Given the description of an element on the screen output the (x, y) to click on. 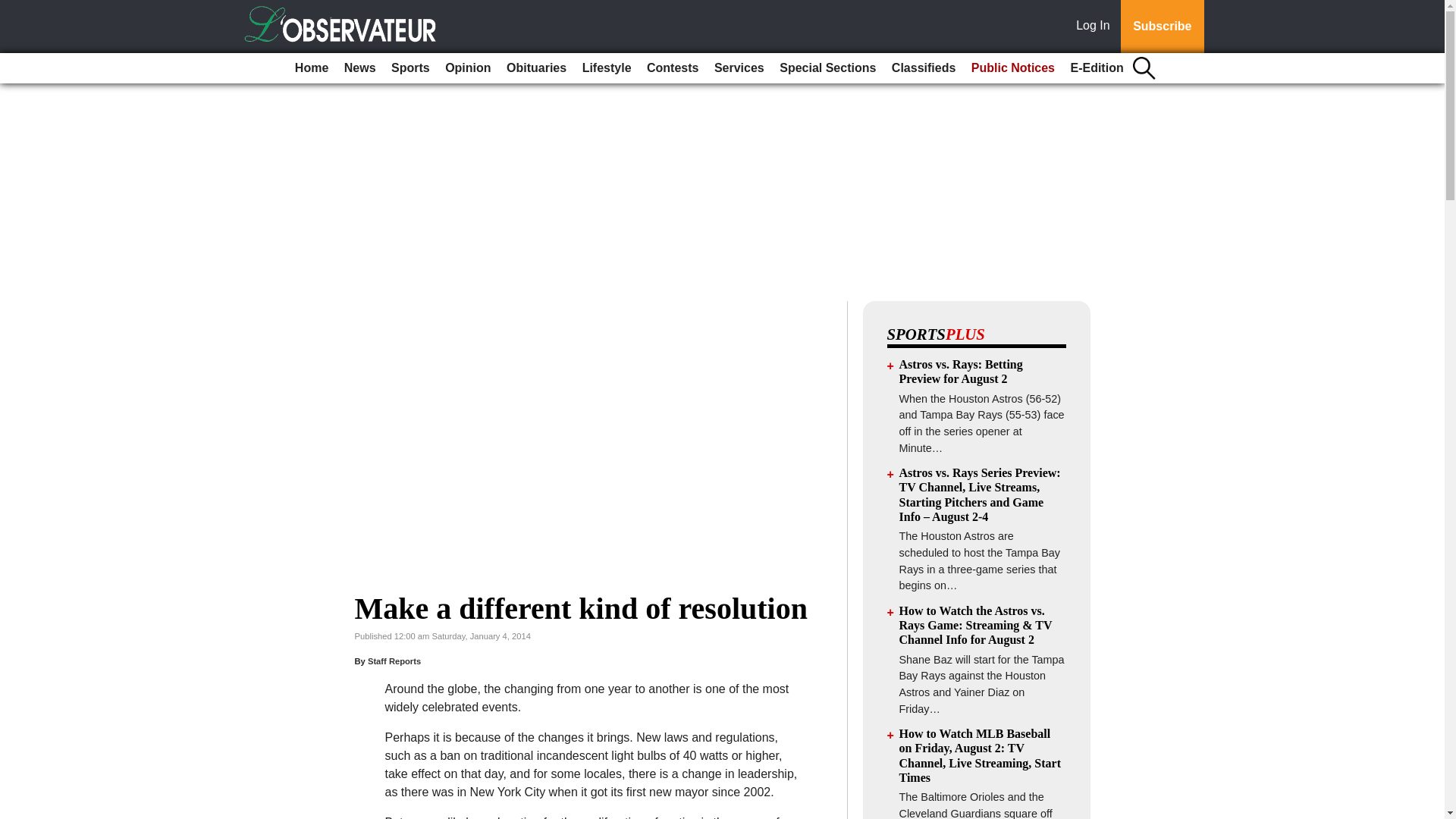
Contests (672, 68)
Home (311, 68)
Classifieds (922, 68)
E-Edition (1096, 68)
Sports (410, 68)
News (359, 68)
Lifestyle (606, 68)
Obituaries (536, 68)
Opinion (467, 68)
